Given the description of an element on the screen output the (x, y) to click on. 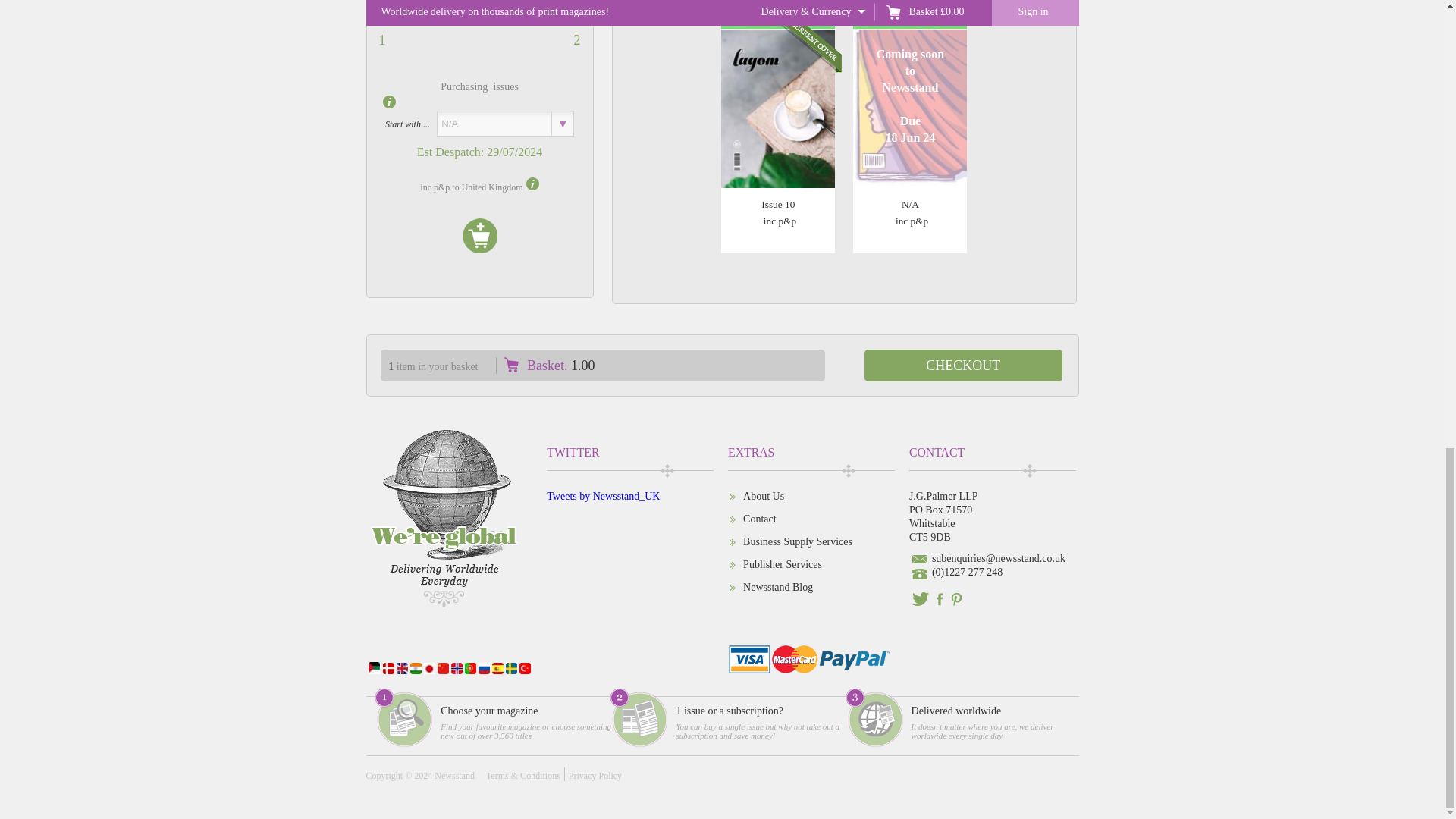
Add this subscription to your basket (480, 235)
